Given the description of an element on the screen output the (x, y) to click on. 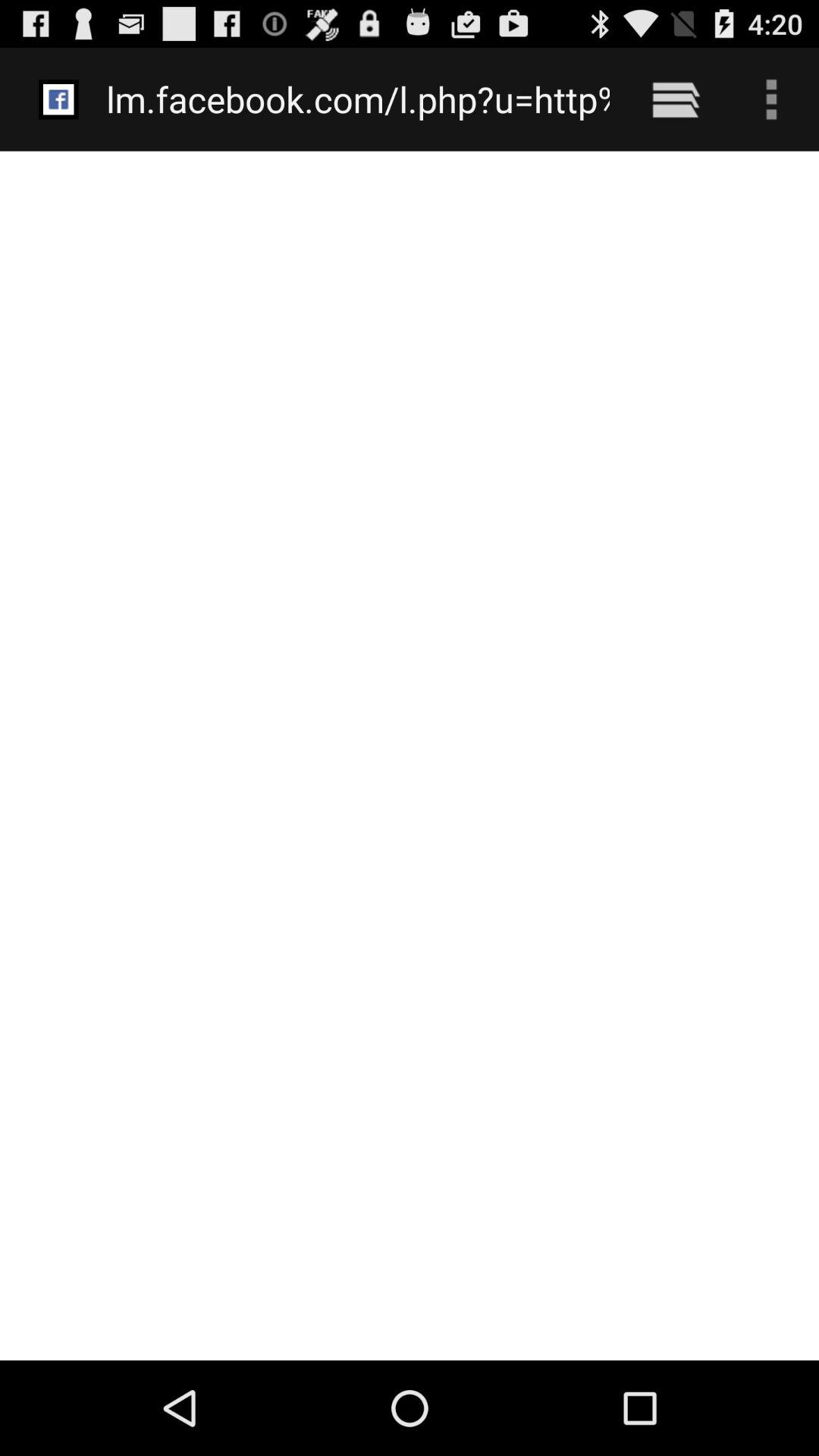
click the icon next to lm facebook com icon (675, 99)
